Given the description of an element on the screen output the (x, y) to click on. 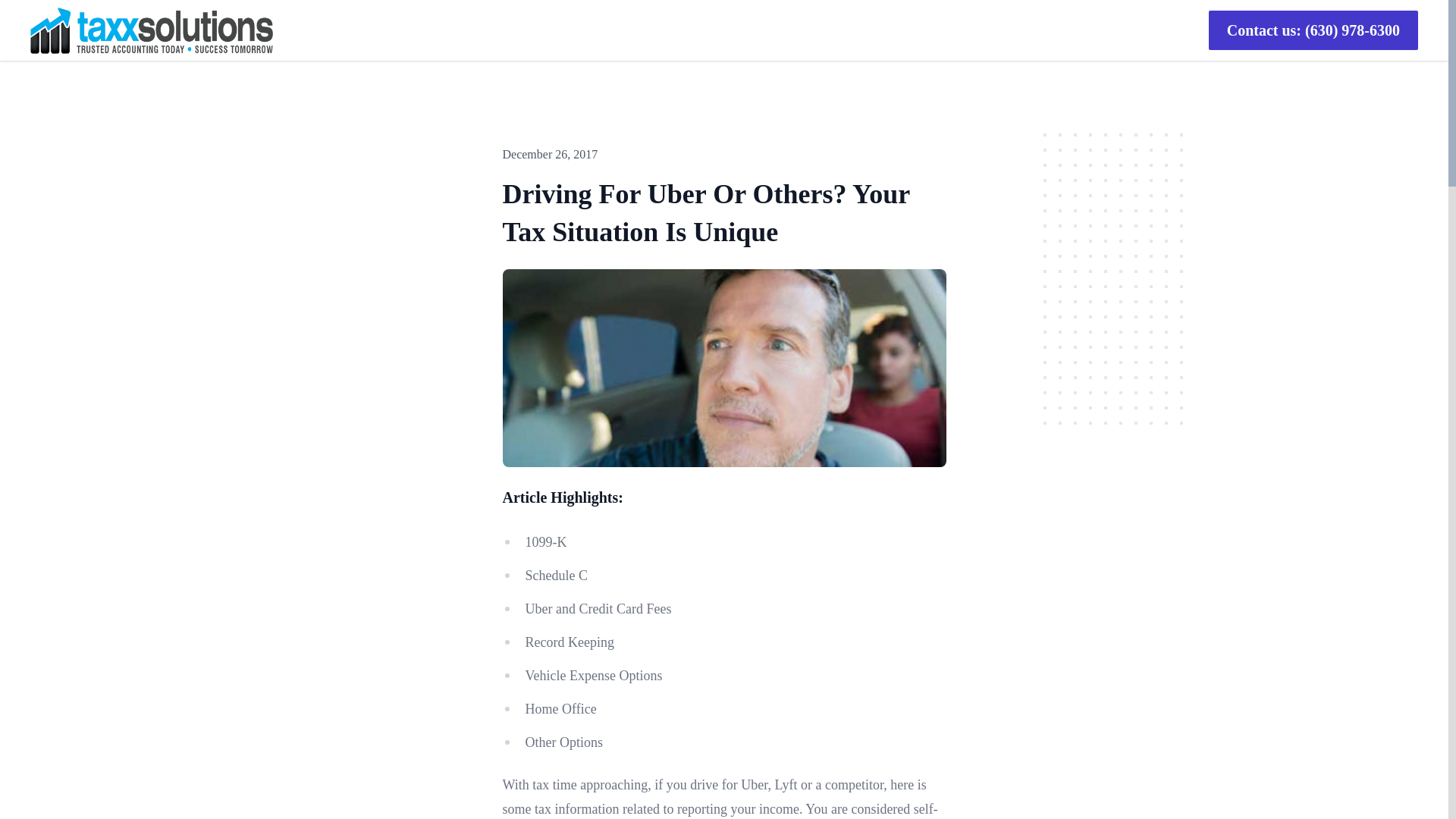
taxxsolutions Blog LP (151, 30)
